Given the description of an element on the screen output the (x, y) to click on. 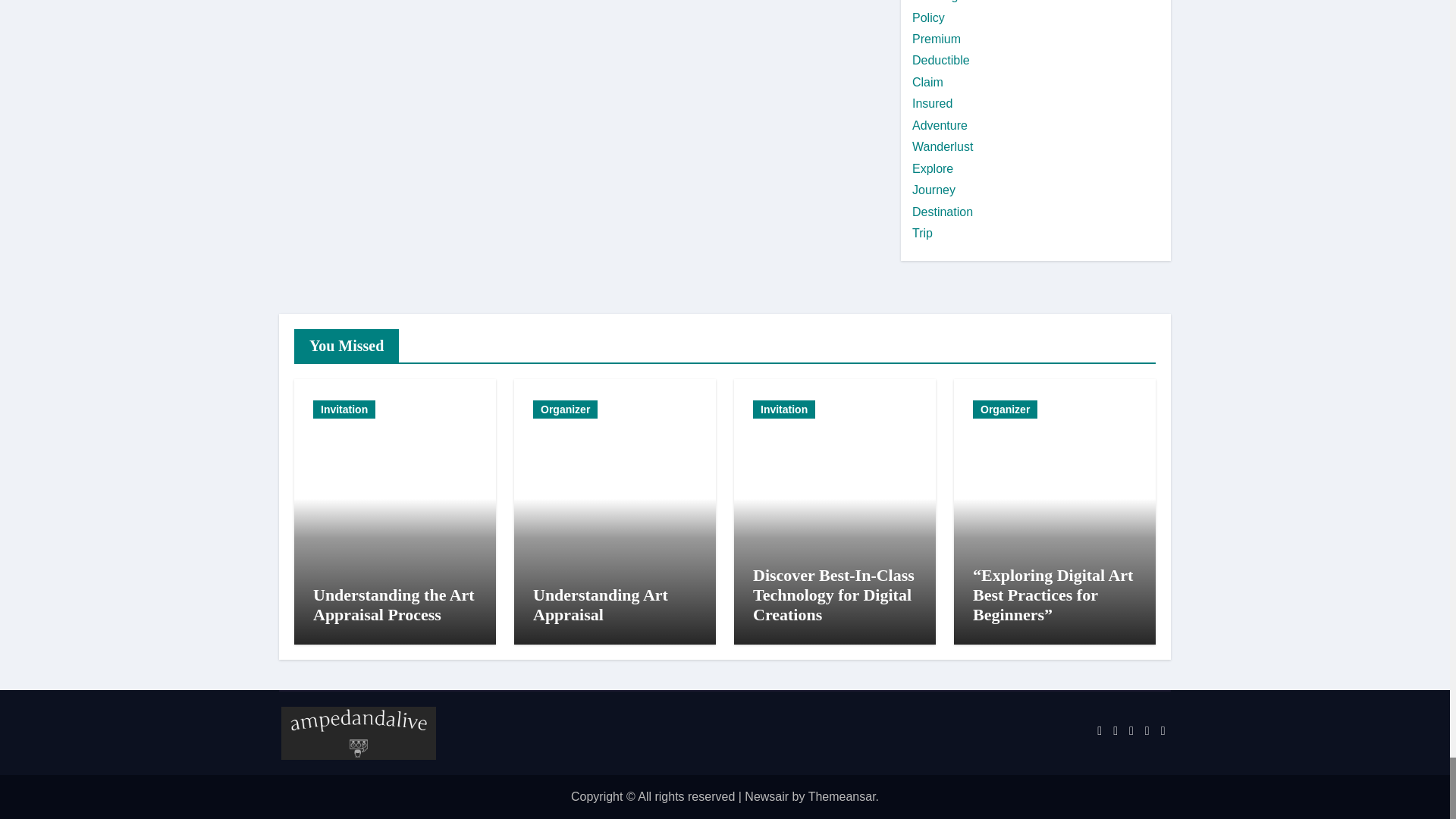
Permalink to: Understanding the Art Appraisal Process (393, 604)
